Given the description of an element on the screen output the (x, y) to click on. 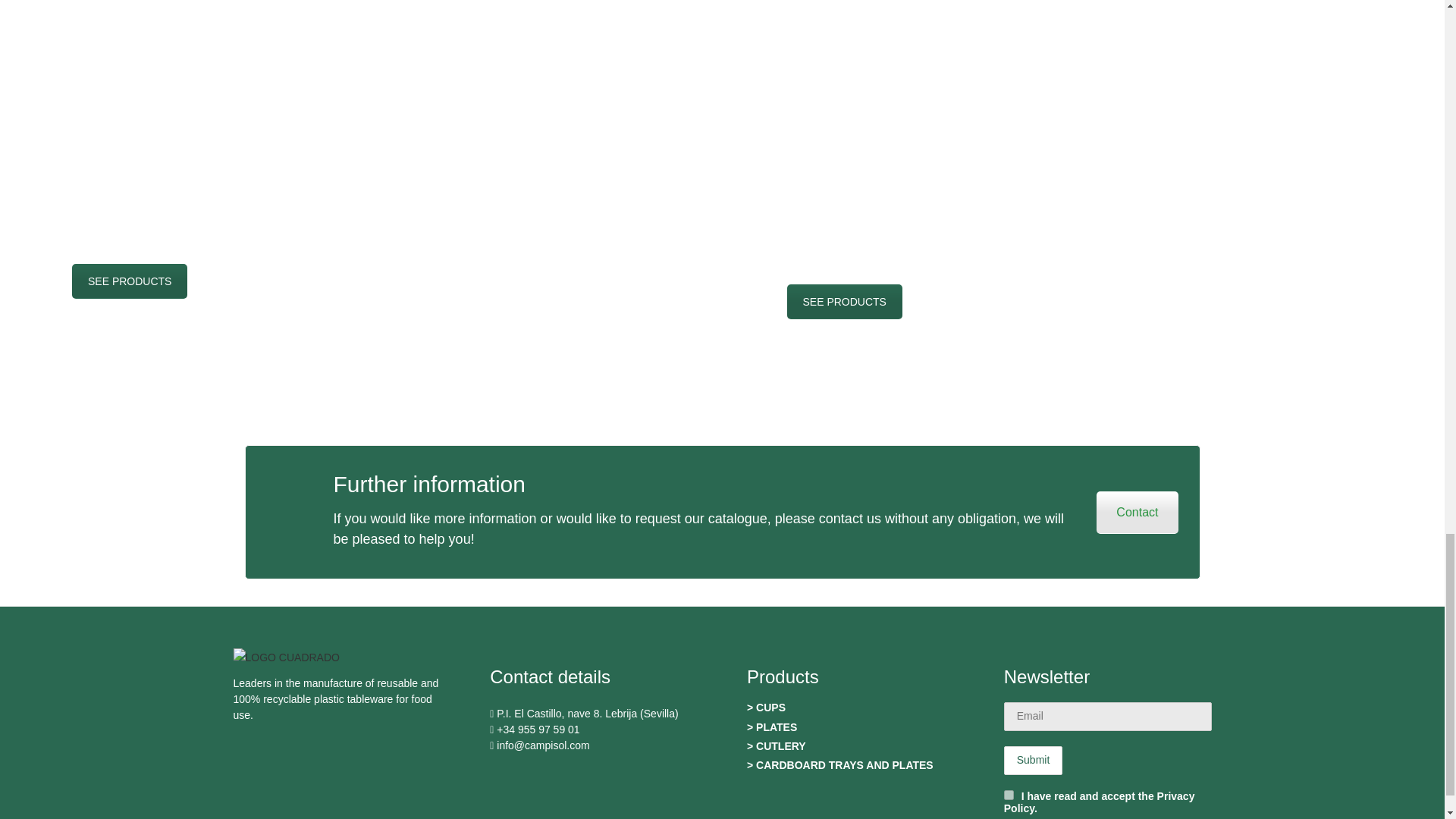
LOGO CUADRADO (285, 657)
1 (1008, 795)
Cardboard trays and plates (844, 301)
Submit (1033, 760)
Styrofoam cups (129, 280)
Contact (1136, 512)
